Given the description of an element on the screen output the (x, y) to click on. 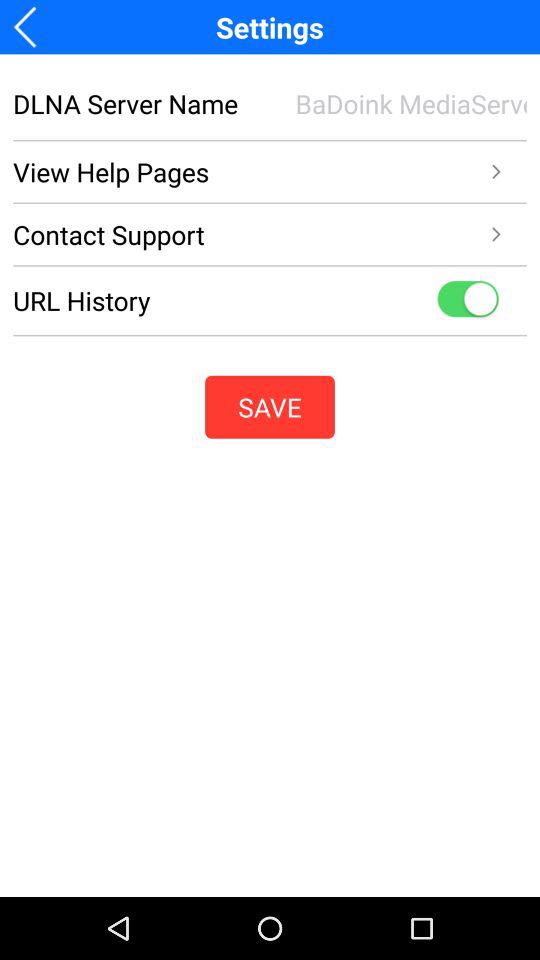
toggle url history (467, 300)
